Given the description of an element on the screen output the (x, y) to click on. 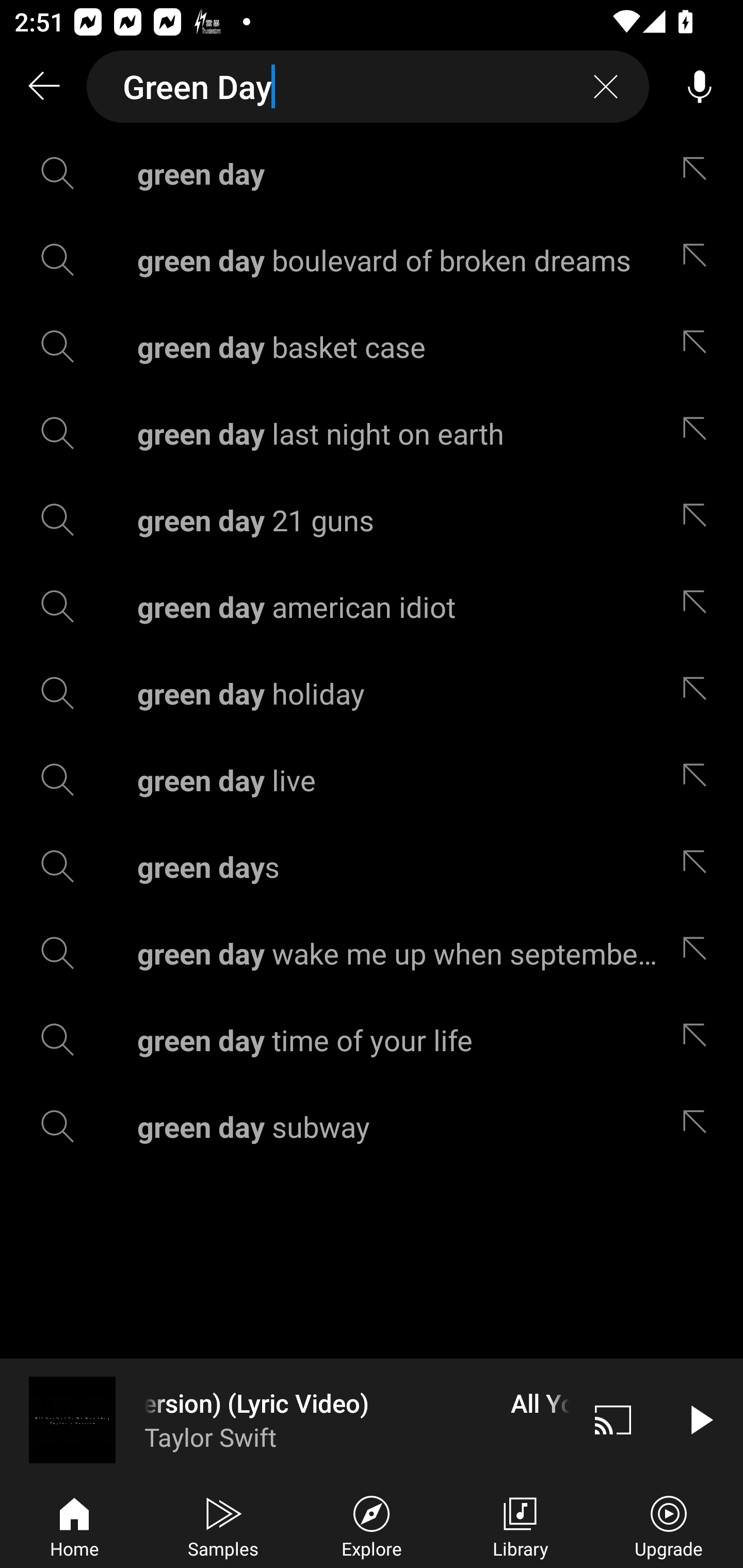
Search back (43, 86)
Green Day (367, 86)
Clear search (605, 86)
Voice search (699, 86)
green day Edit suggestion green day (371, 173)
Edit suggestion green day (699, 173)
Edit suggestion green day basket case (699, 346)
Edit suggestion green day last night on earth (699, 433)
Edit suggestion green day 21 guns (699, 519)
Edit suggestion green day american idiot (699, 605)
Edit suggestion green day holiday (699, 692)
green day live Edit suggestion green day live (371, 779)
Edit suggestion green day live (699, 779)
green days Edit suggestion green days (371, 866)
Edit suggestion green days (699, 866)
Edit suggestion green day time of your life (699, 1040)
green day subway Edit suggestion green day subway (371, 1126)
Edit suggestion green day subway (699, 1126)
Cast. Disconnected (612, 1419)
Play video (699, 1419)
Home (74, 1524)
Samples (222, 1524)
Explore (371, 1524)
Library (519, 1524)
Upgrade (668, 1524)
